Given the description of an element on the screen output the (x, y) to click on. 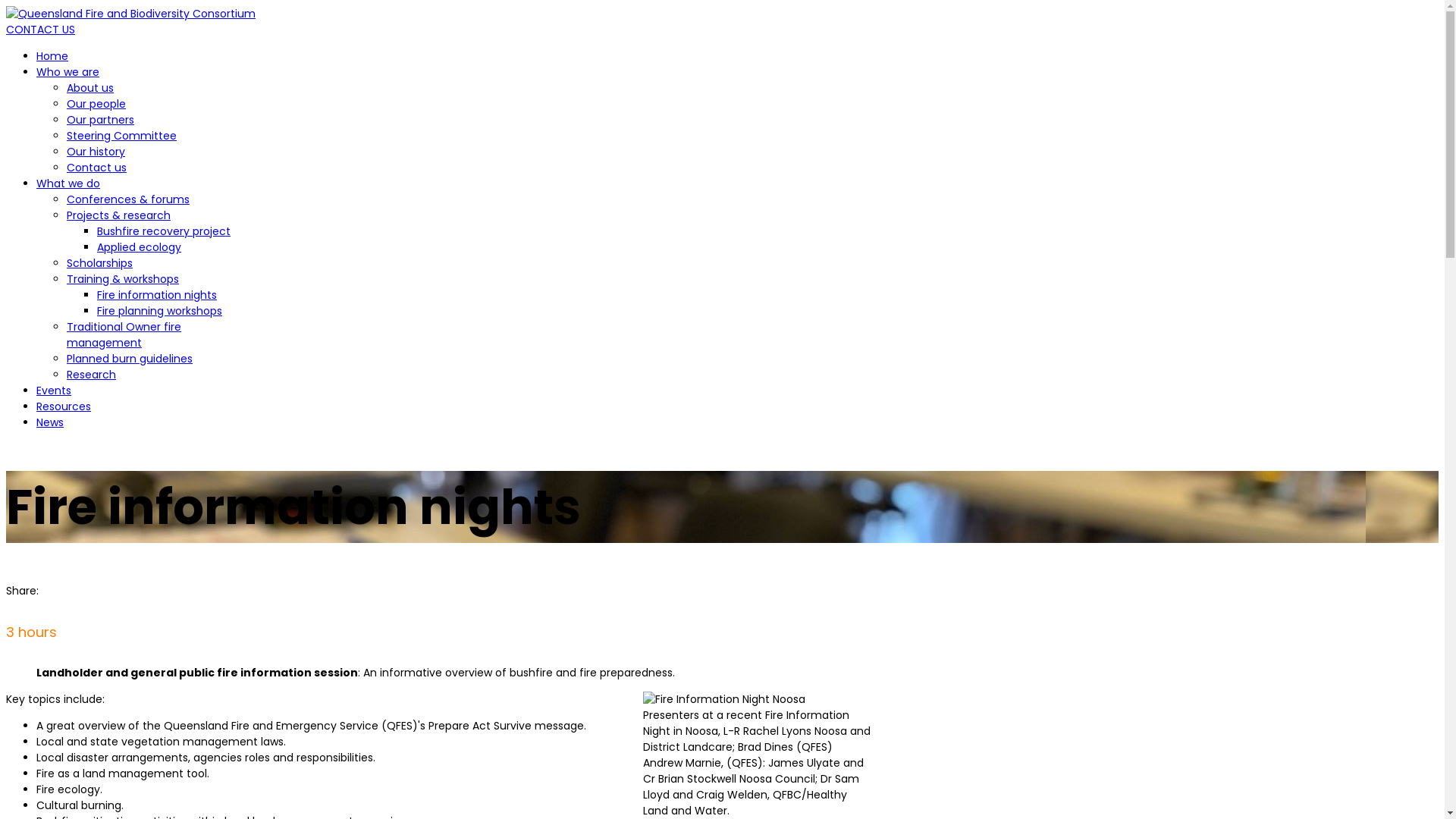
Contact us Element type: text (96, 167)
About us Element type: text (89, 87)
Traditional Owner fire management Element type: text (123, 334)
Research Element type: text (91, 374)
Fire planning workshops Element type: text (159, 310)
Our partners Element type: text (100, 119)
News Element type: text (49, 421)
Our history Element type: text (95, 151)
Events Element type: text (53, 390)
Who we are Element type: text (67, 71)
Applied ecology Element type: text (139, 246)
Planned burn guidelines Element type: text (129, 358)
Projects & research Element type: text (118, 214)
Bushfire recovery project Element type: text (163, 230)
Fire information nights Element type: text (156, 294)
Training & workshops Element type: text (122, 278)
CONTACT US Element type: text (40, 29)
Scholarships Element type: text (99, 262)
Our people Element type: text (95, 103)
Home Element type: text (52, 55)
Conferences & forums Element type: text (127, 199)
Resources Element type: text (63, 406)
What we do Element type: text (68, 183)
Steering Committee Element type: text (121, 135)
